Given the description of an element on the screen output the (x, y) to click on. 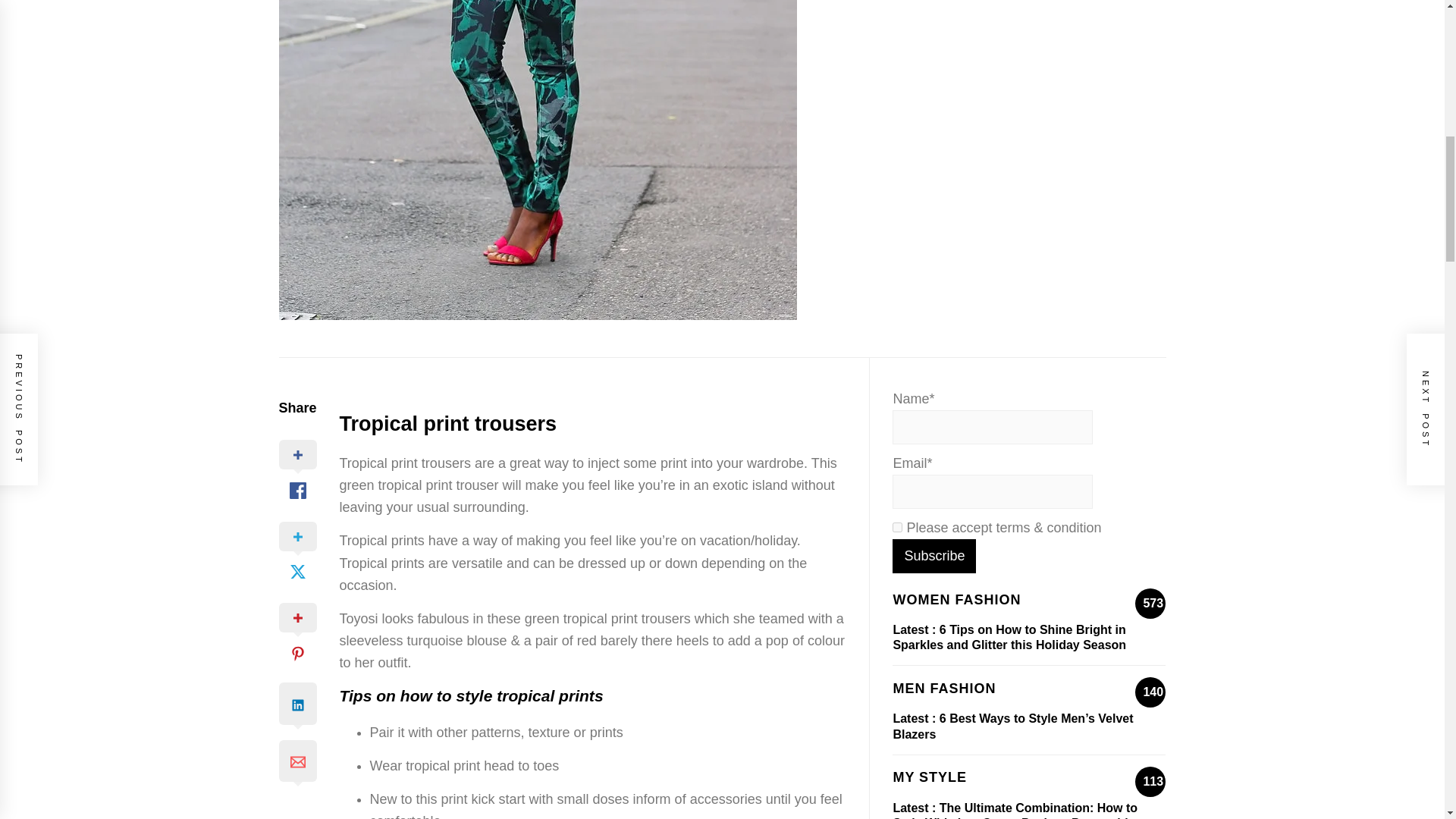
Subscribe (933, 555)
true (897, 527)
